Given the description of an element on the screen output the (x, y) to click on. 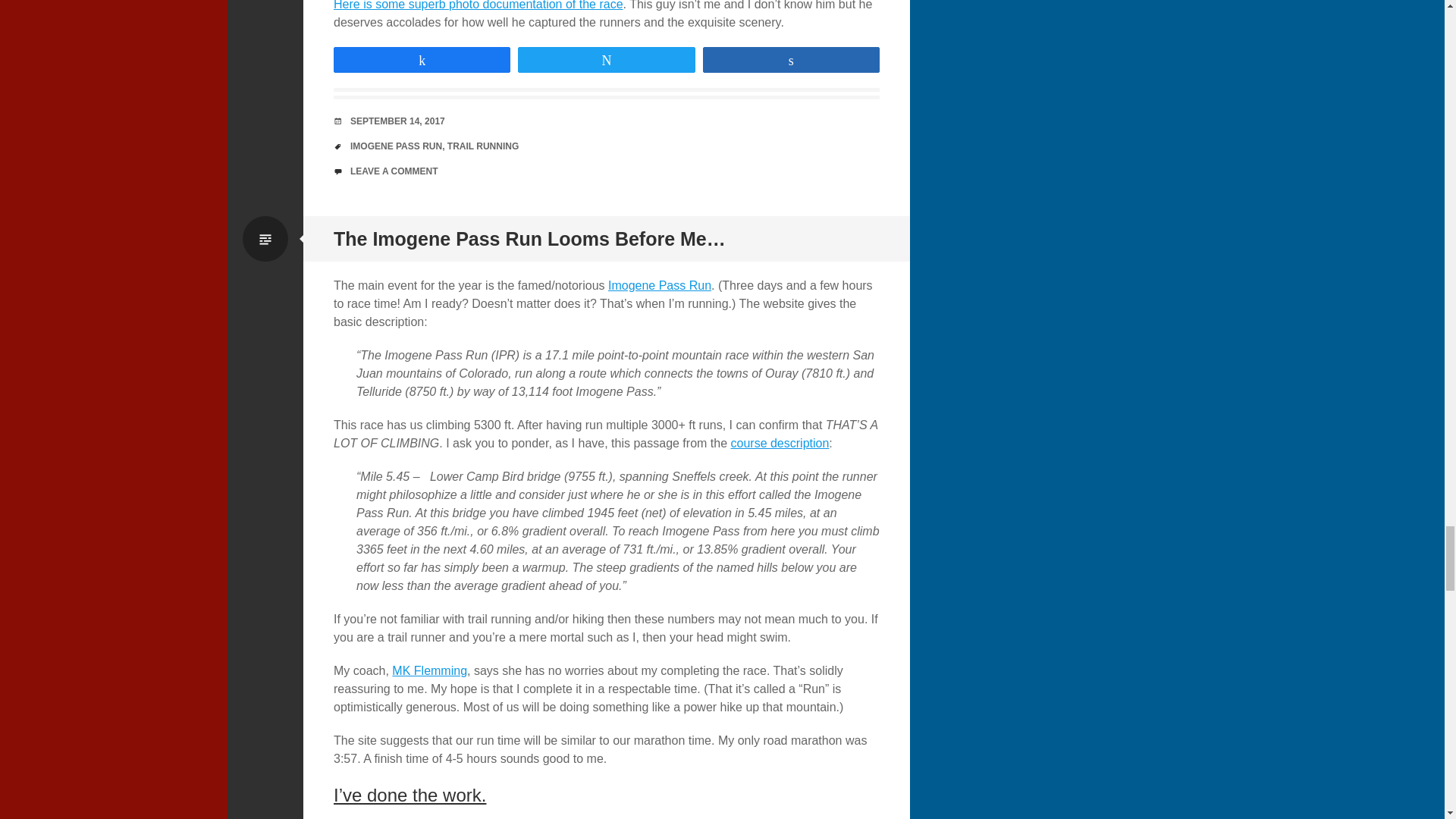
10:16 pm (397, 121)
